Given the description of an element on the screen output the (x, y) to click on. 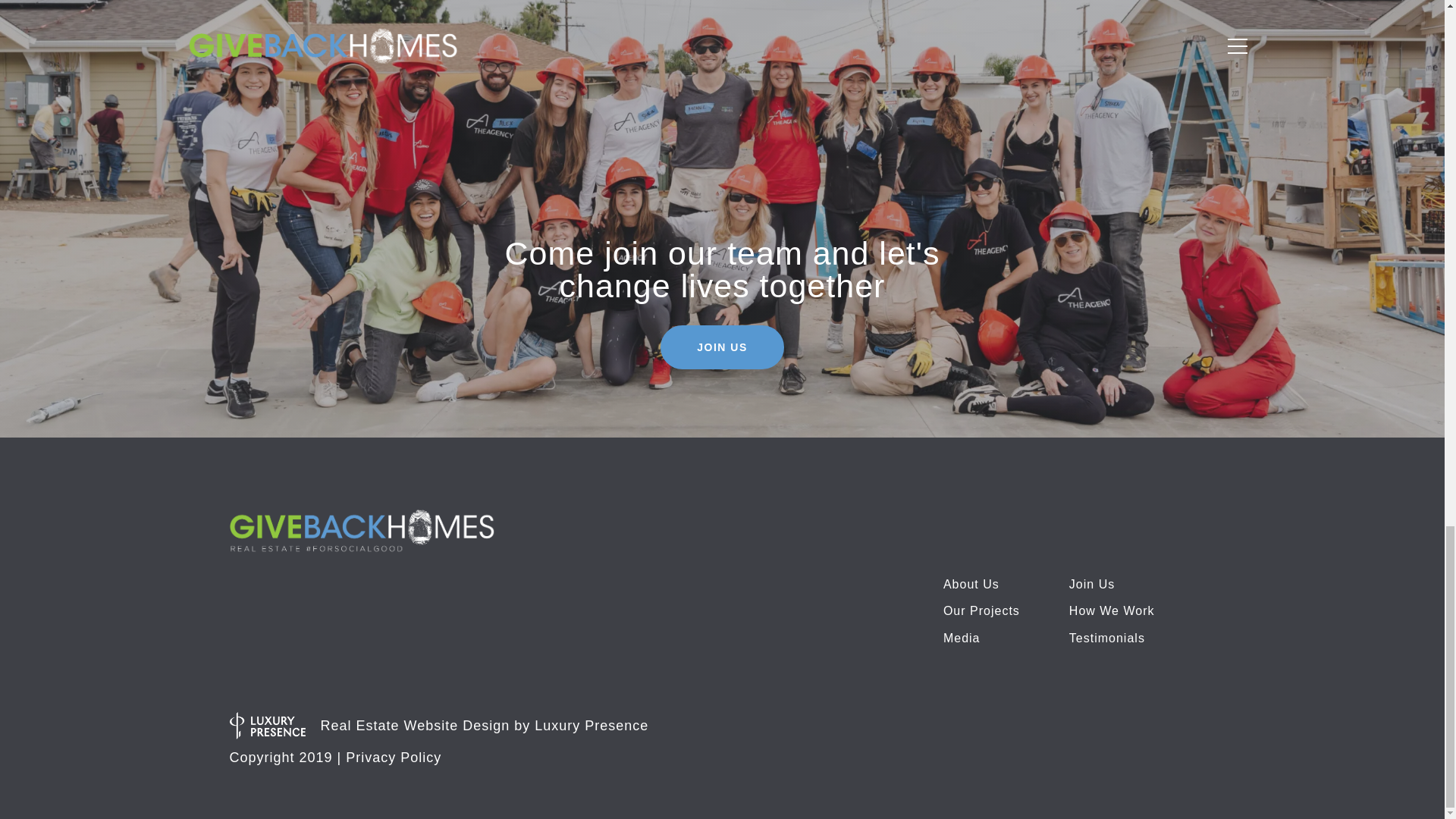
JOIN US (722, 347)
